Given the description of an element on the screen output the (x, y) to click on. 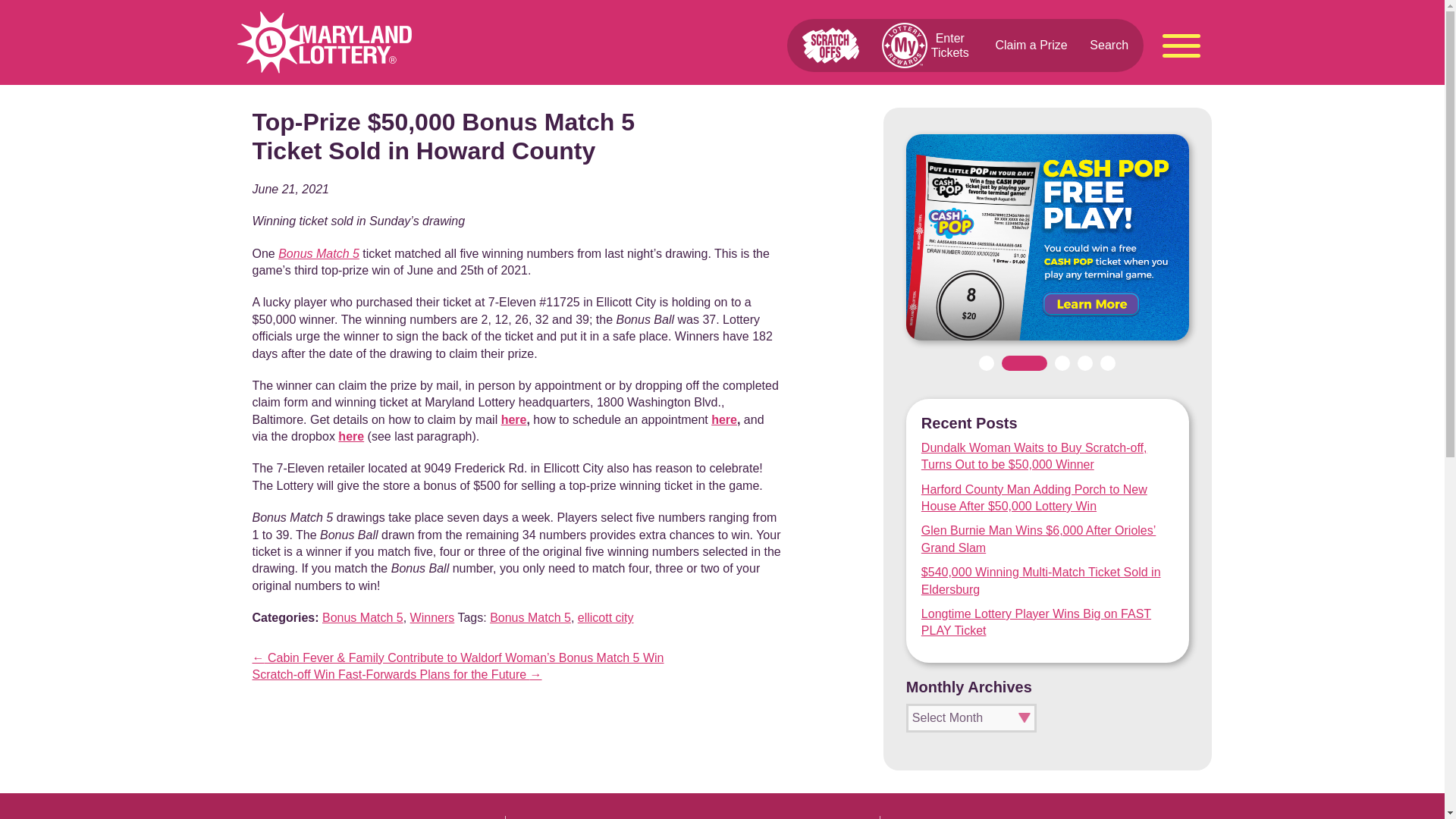
Claim a Prize (1030, 44)
Search (1108, 44)
